Given the description of an element on the screen output the (x, y) to click on. 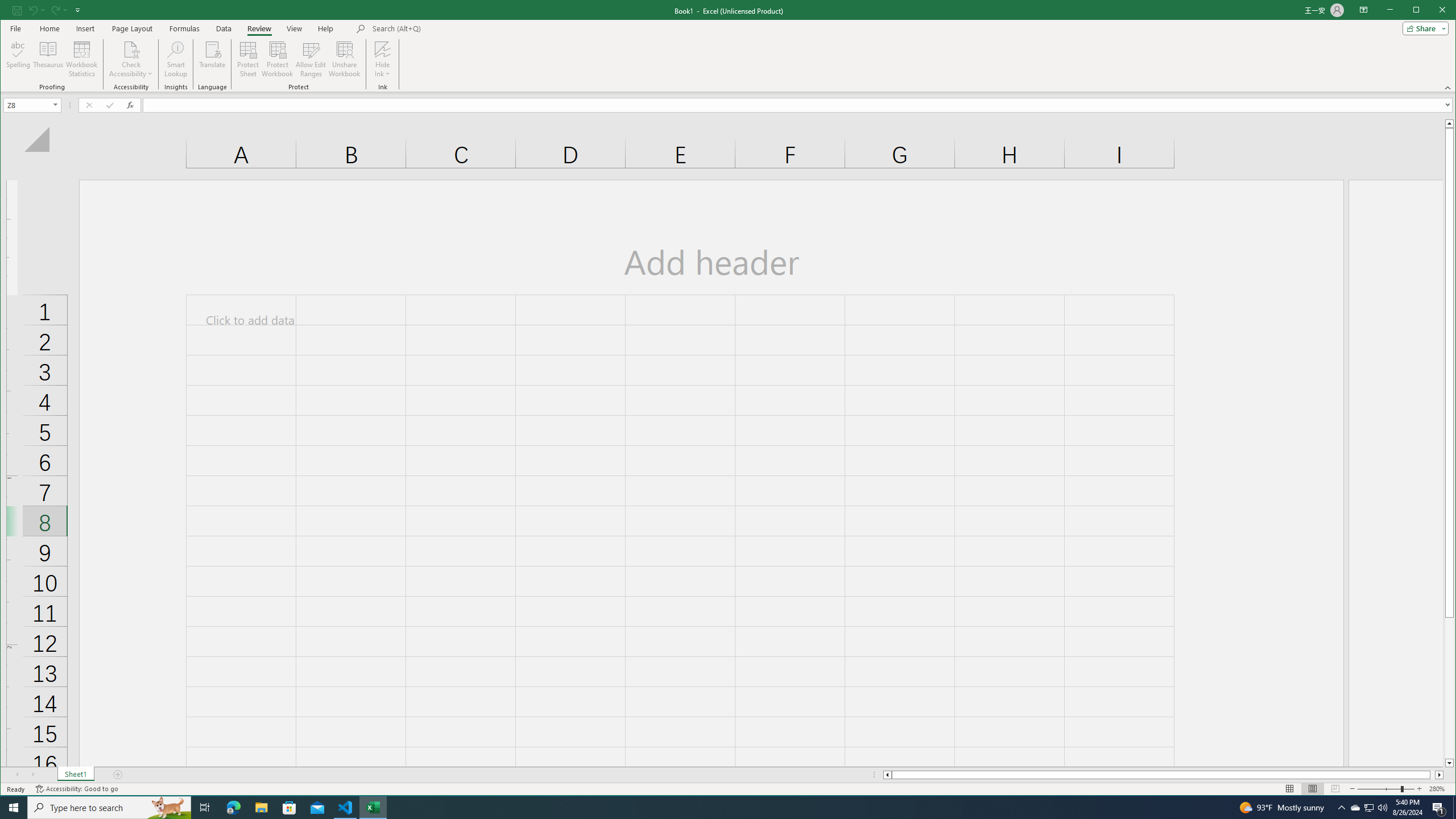
Smart Lookup (176, 59)
User Promoted Notification Area (1368, 807)
System (10, 10)
Review (259, 28)
Task View (204, 807)
Start (13, 807)
Scroll Right (34, 774)
Undo (36, 9)
Check Accessibility (130, 59)
Data (223, 28)
System (10, 10)
Page right (1432, 774)
Visual Studio Code - 1 running window (345, 807)
Page Layout (132, 28)
View (294, 28)
